Given the description of an element on the screen output the (x, y) to click on. 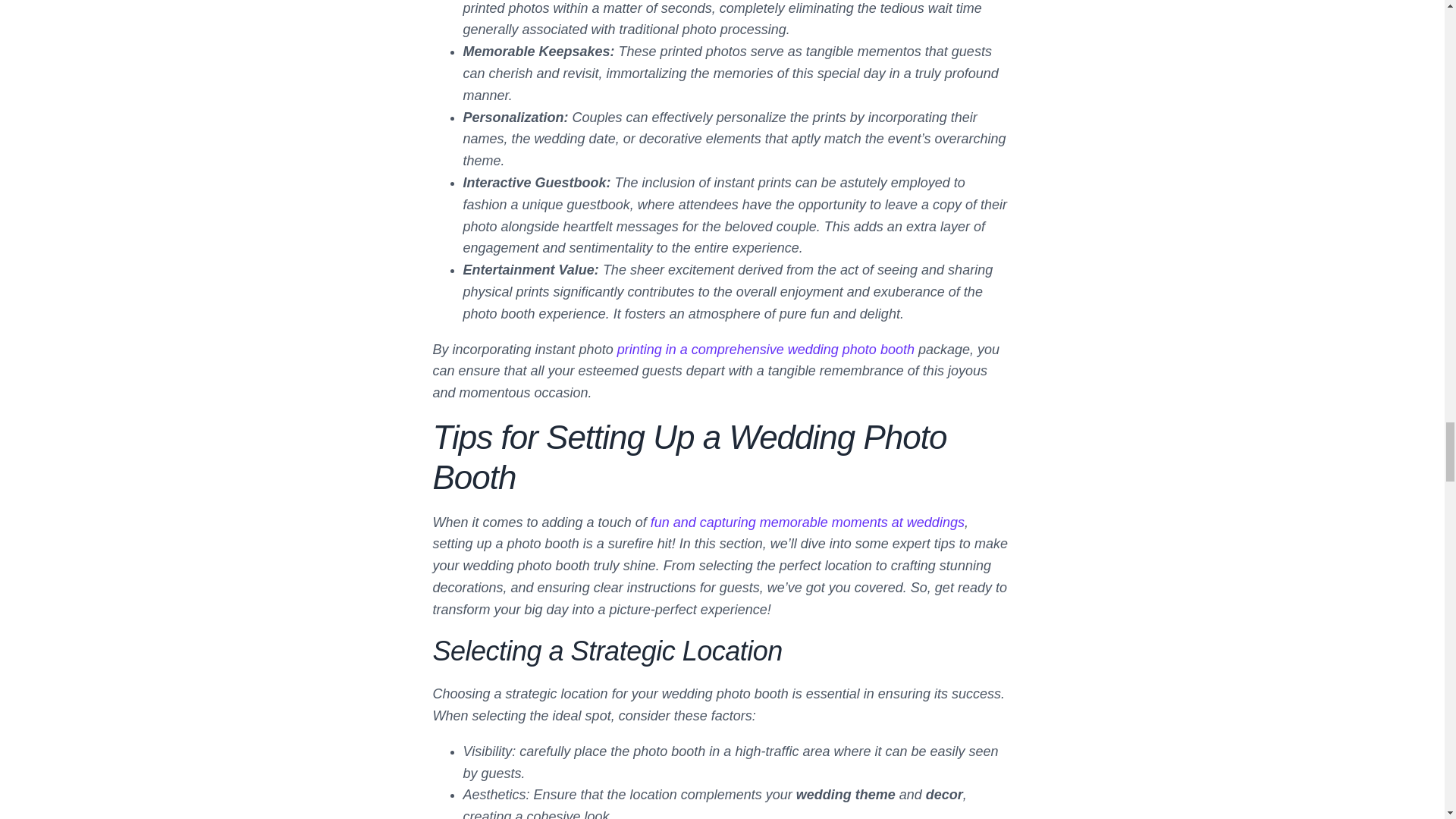
fun and capturing memorable moments at weddings (806, 521)
printing in a comprehensive wedding photo booth (765, 349)
